Given the description of an element on the screen output the (x, y) to click on. 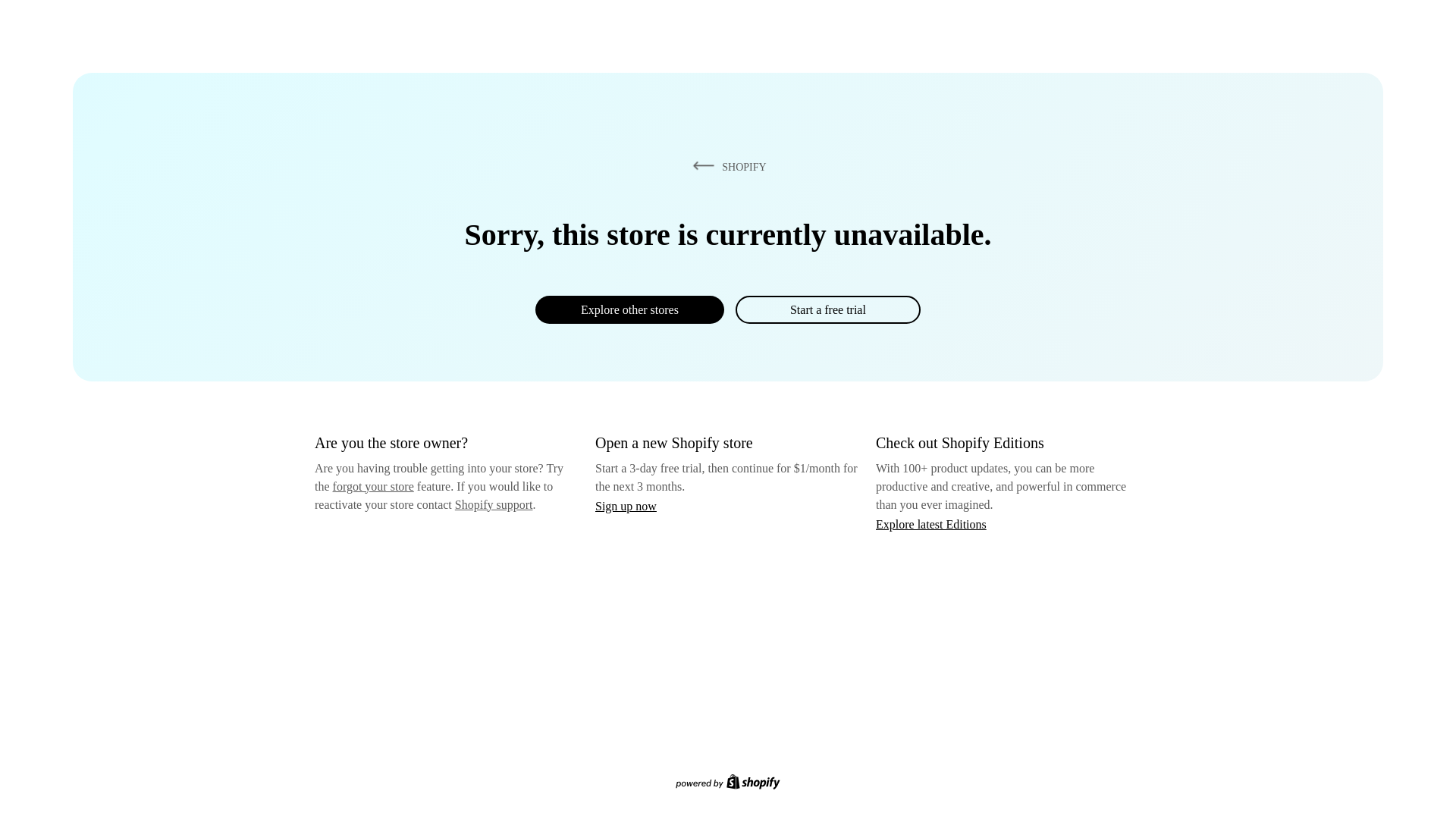
forgot your store (373, 486)
Sign up now (625, 505)
SHOPIFY (726, 166)
Explore other stores (629, 309)
Shopify support (493, 504)
Start a free trial (827, 309)
Explore latest Editions (931, 523)
